Given the description of an element on the screen output the (x, y) to click on. 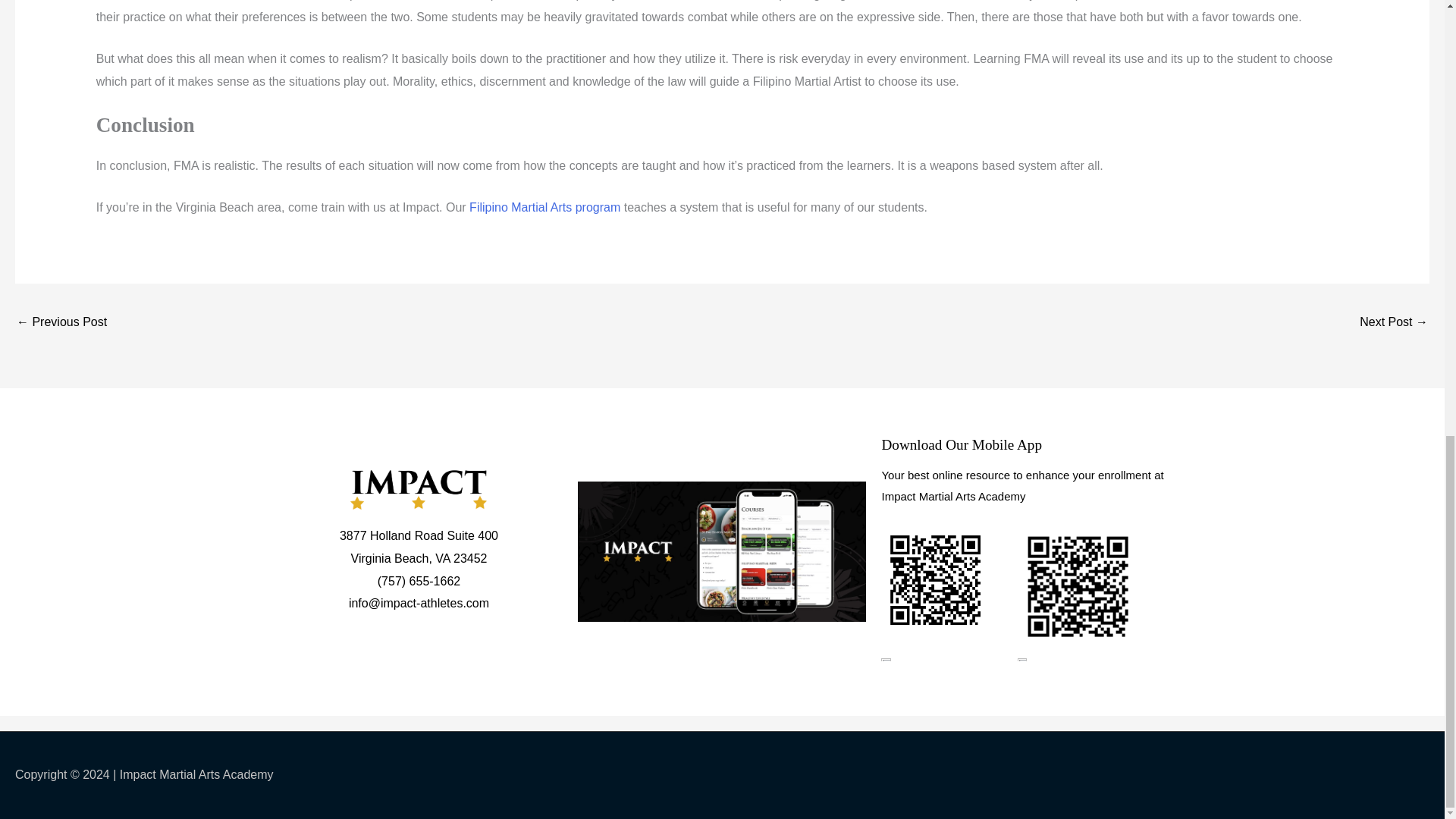
What Muay Thai Does To Your Body (1393, 323)
Is Training BJJ Twice a Week Enough? (61, 323)
Filipino Martial Arts program (544, 206)
